Given the description of an element on the screen output the (x, y) to click on. 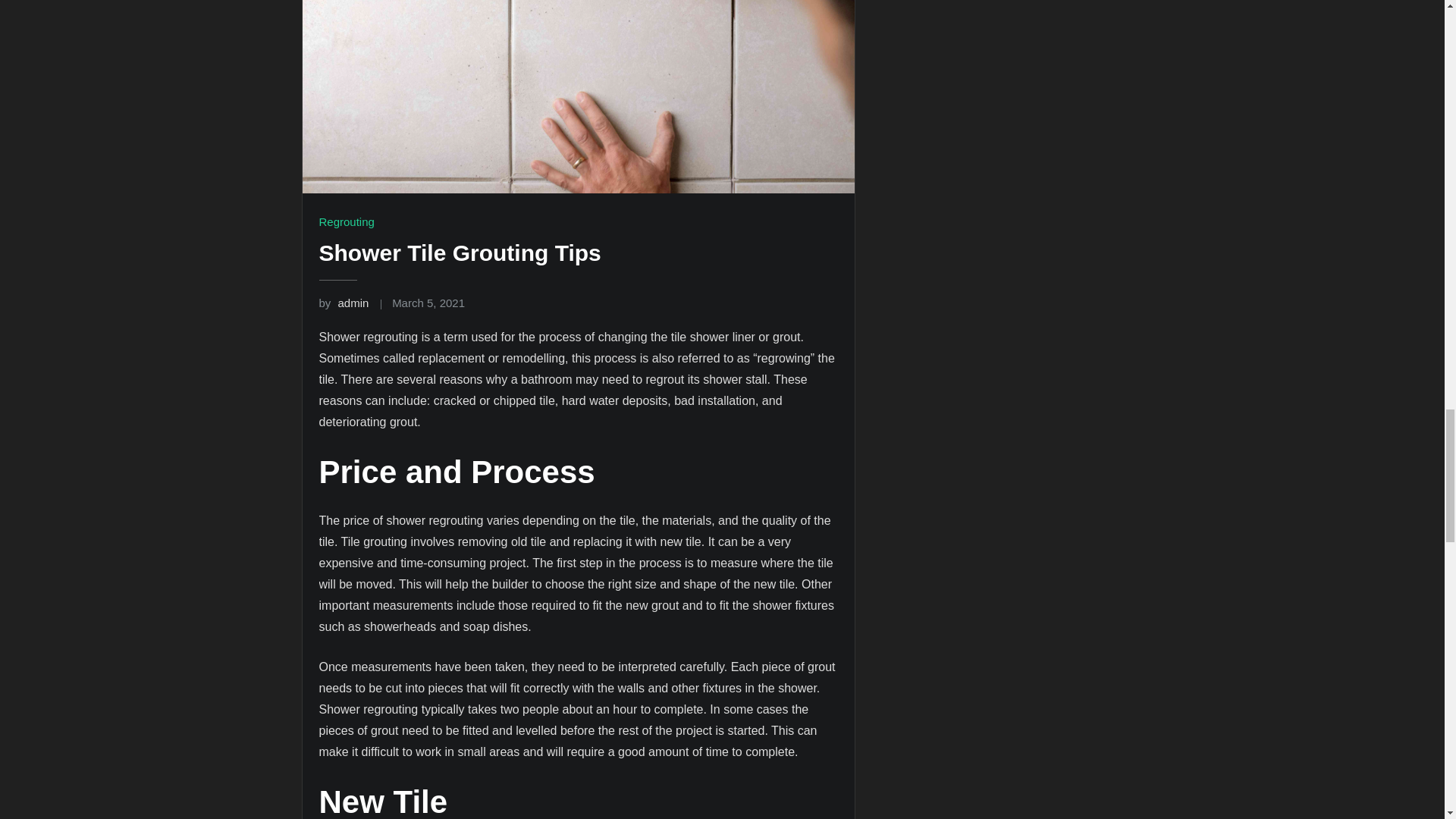
Shower Tile Grouting Tips (458, 252)
by admin (343, 302)
March 5, 2021 (427, 302)
Regrouting (346, 221)
